Given the description of an element on the screen output the (x, y) to click on. 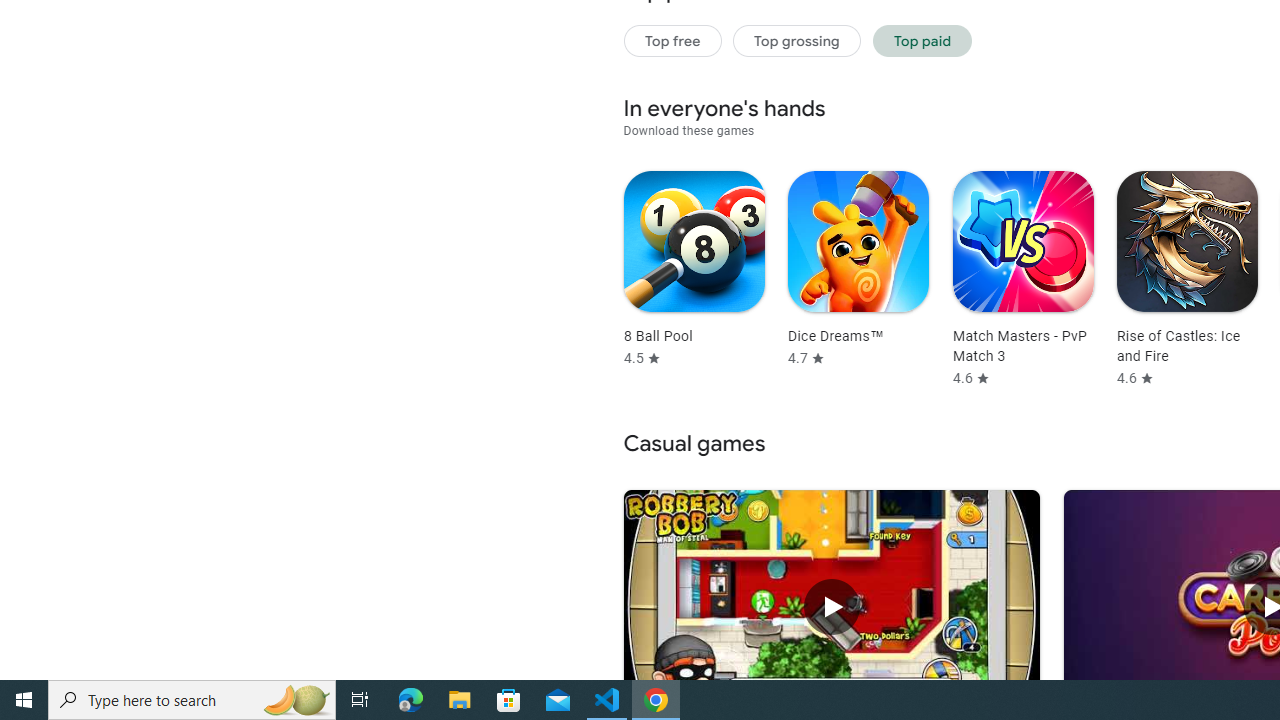
Top grossing (797, 39)
8 Ball Pool Rated 4.5 stars out of five stars (694, 268)
Play Robbery Bob - King of Sneak (830, 606)
Top paid (922, 39)
Top free (672, 39)
